Given the description of an element on the screen output the (x, y) to click on. 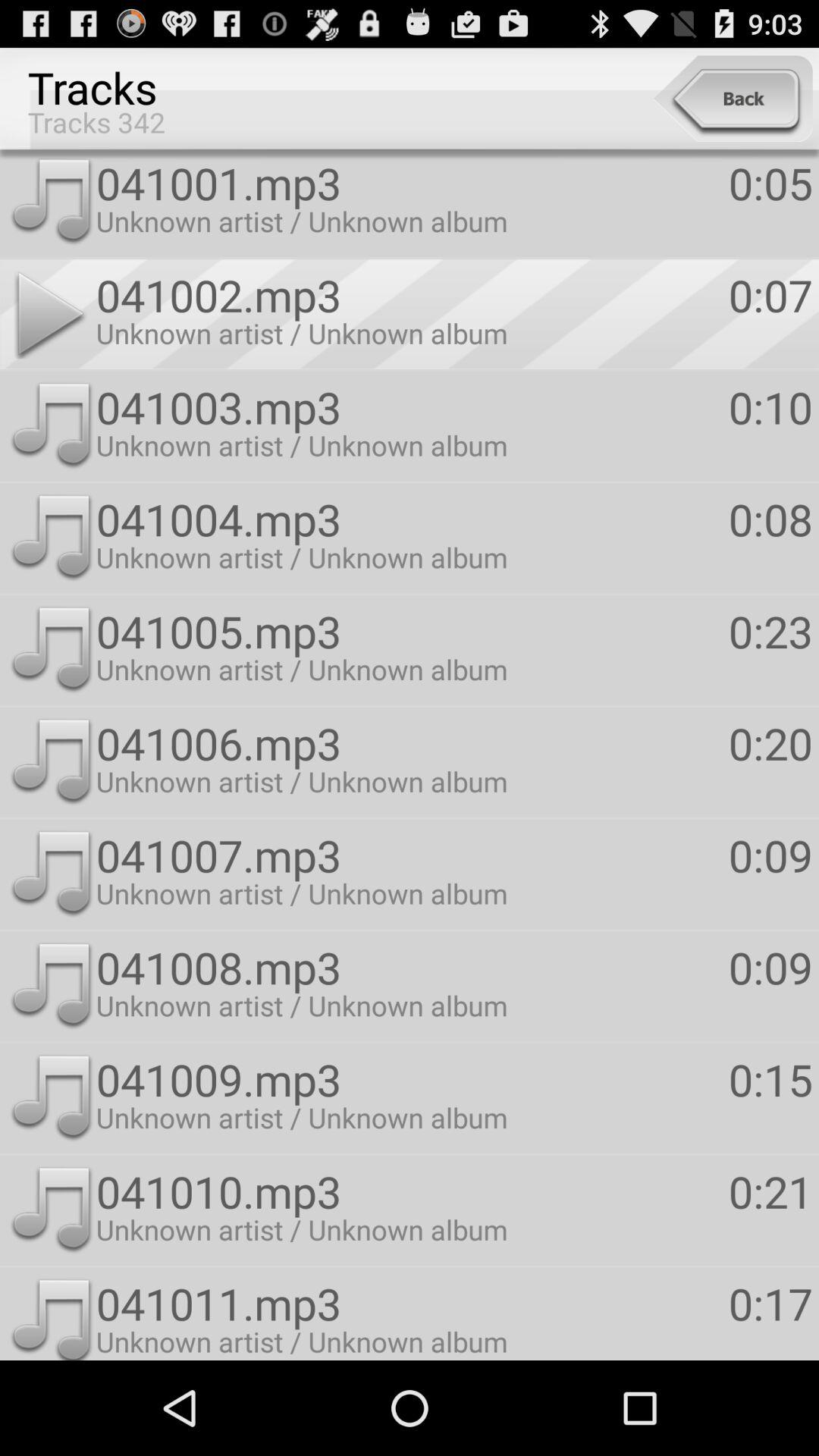
press item next to tracks 342 (732, 98)
